Given the description of an element on the screen output the (x, y) to click on. 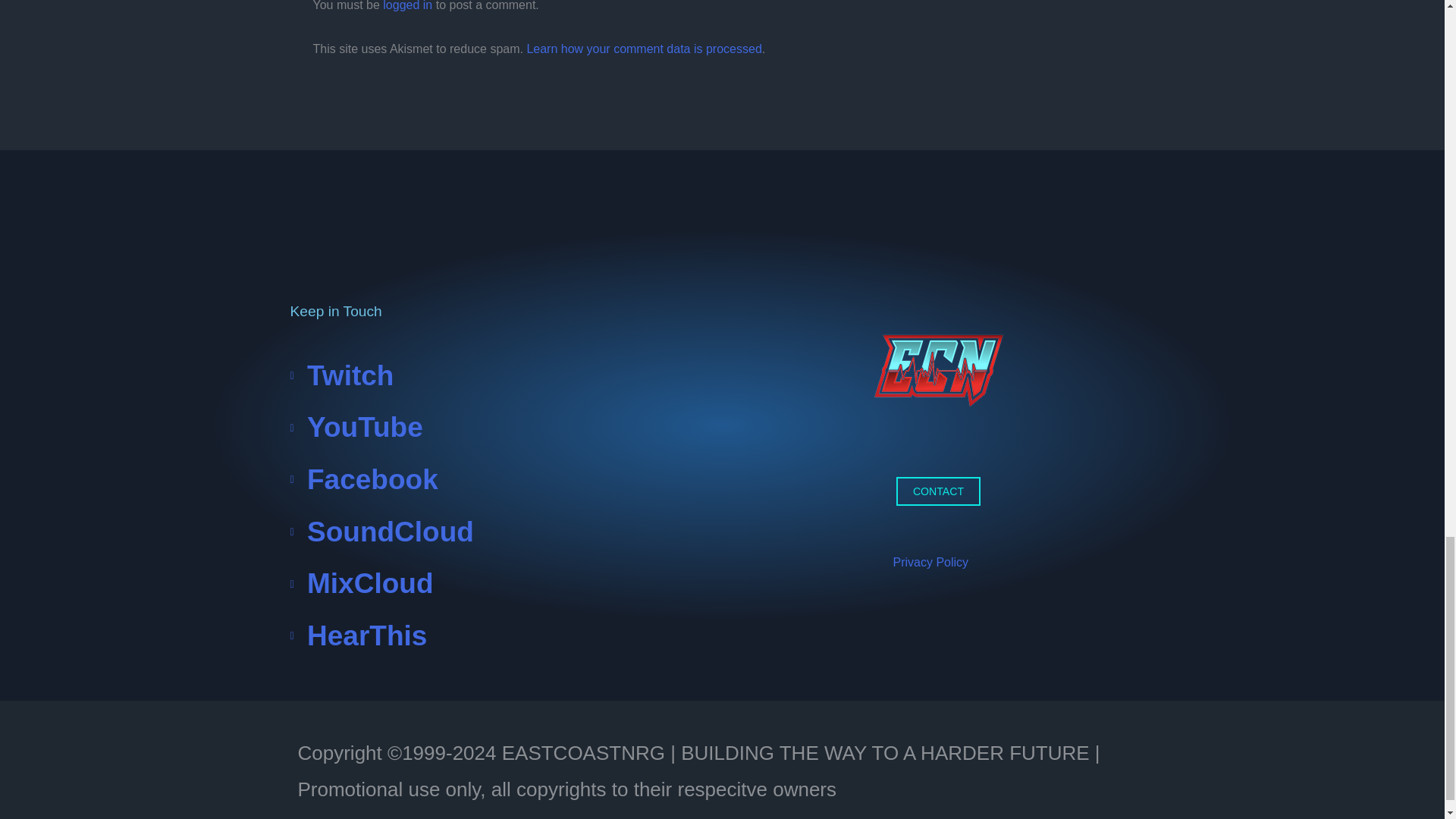
MixCloud (505, 583)
Learn how your comment data is processed (643, 48)
CONTACT (937, 490)
HearThis (505, 636)
logged in (407, 5)
Twitch (505, 376)
Privacy Policy  (931, 562)
YouTube (505, 428)
SoundCloud (505, 532)
Facebook (505, 480)
